Given the description of an element on the screen output the (x, y) to click on. 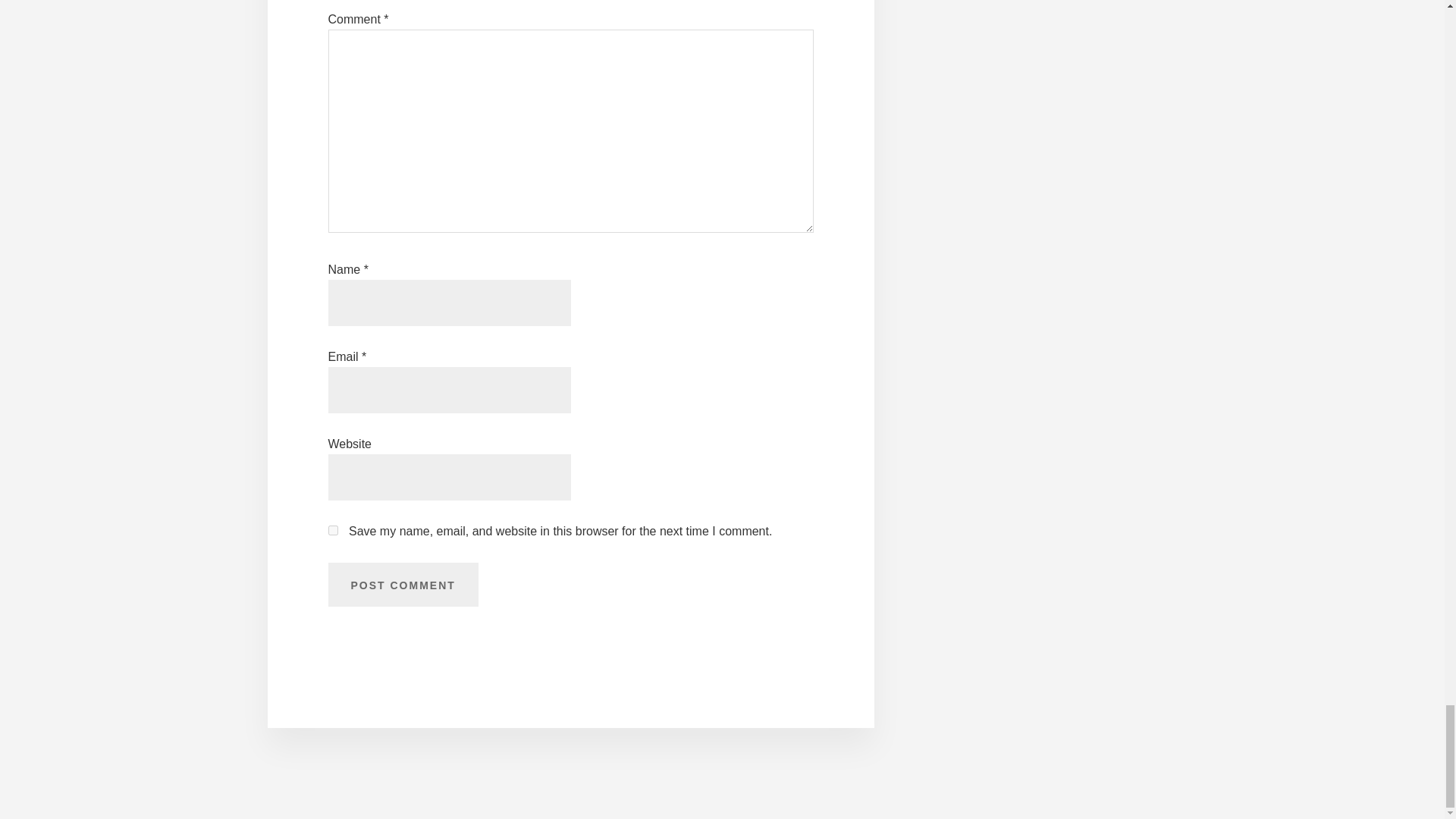
Post Comment (402, 584)
yes (332, 530)
